Given the description of an element on the screen output the (x, y) to click on. 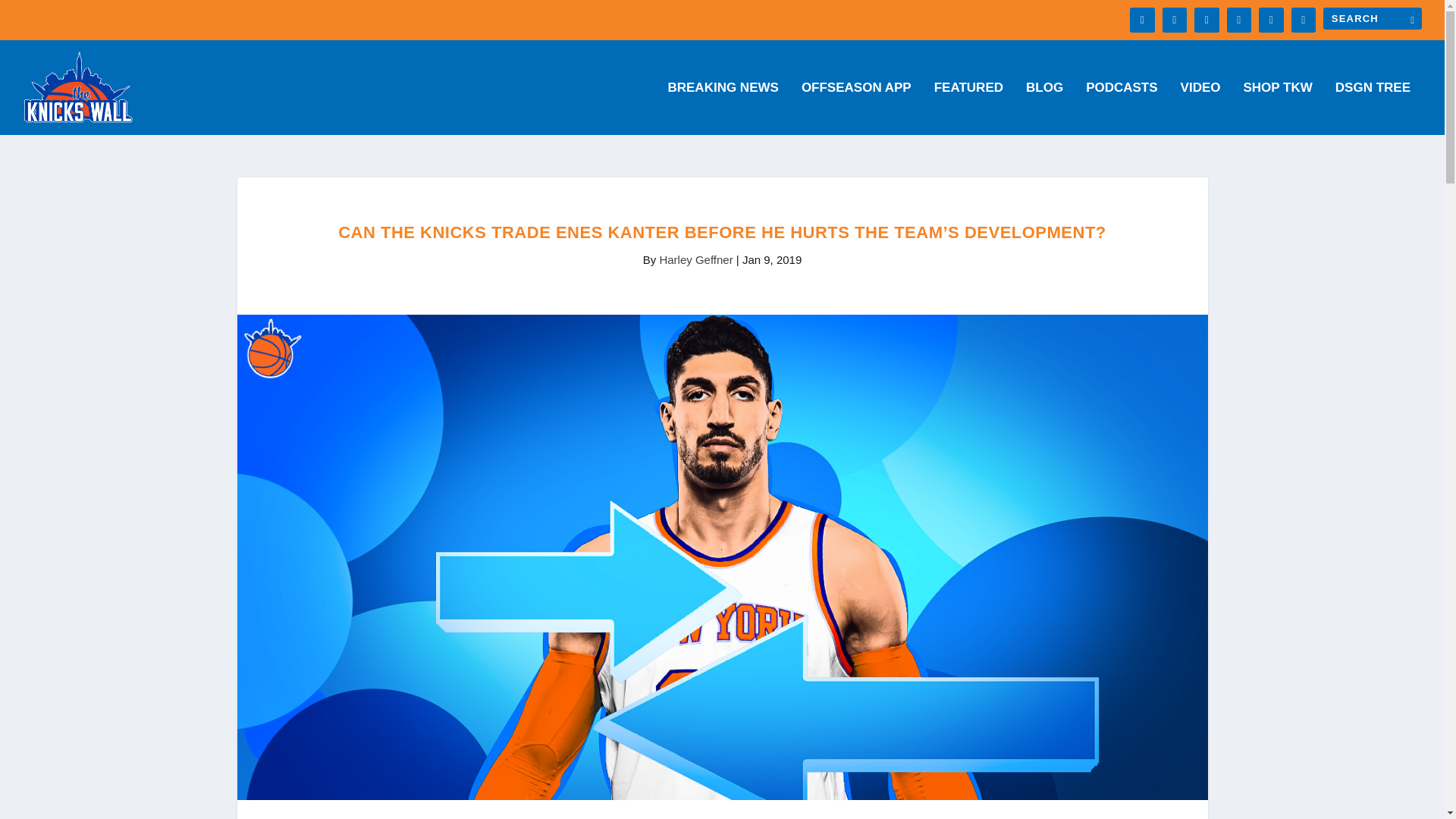
SHOP TKW (1278, 108)
Search for: (1372, 18)
DSGN TREE (1372, 108)
Posts by Harley Geffner (695, 259)
PODCASTS (1121, 108)
OFFSEASON APP (856, 108)
FEATURED (968, 108)
What Should the Knicks Do with Courtney Lee? (221, 19)
BREAKING NEWS (721, 108)
